Given the description of an element on the screen output the (x, y) to click on. 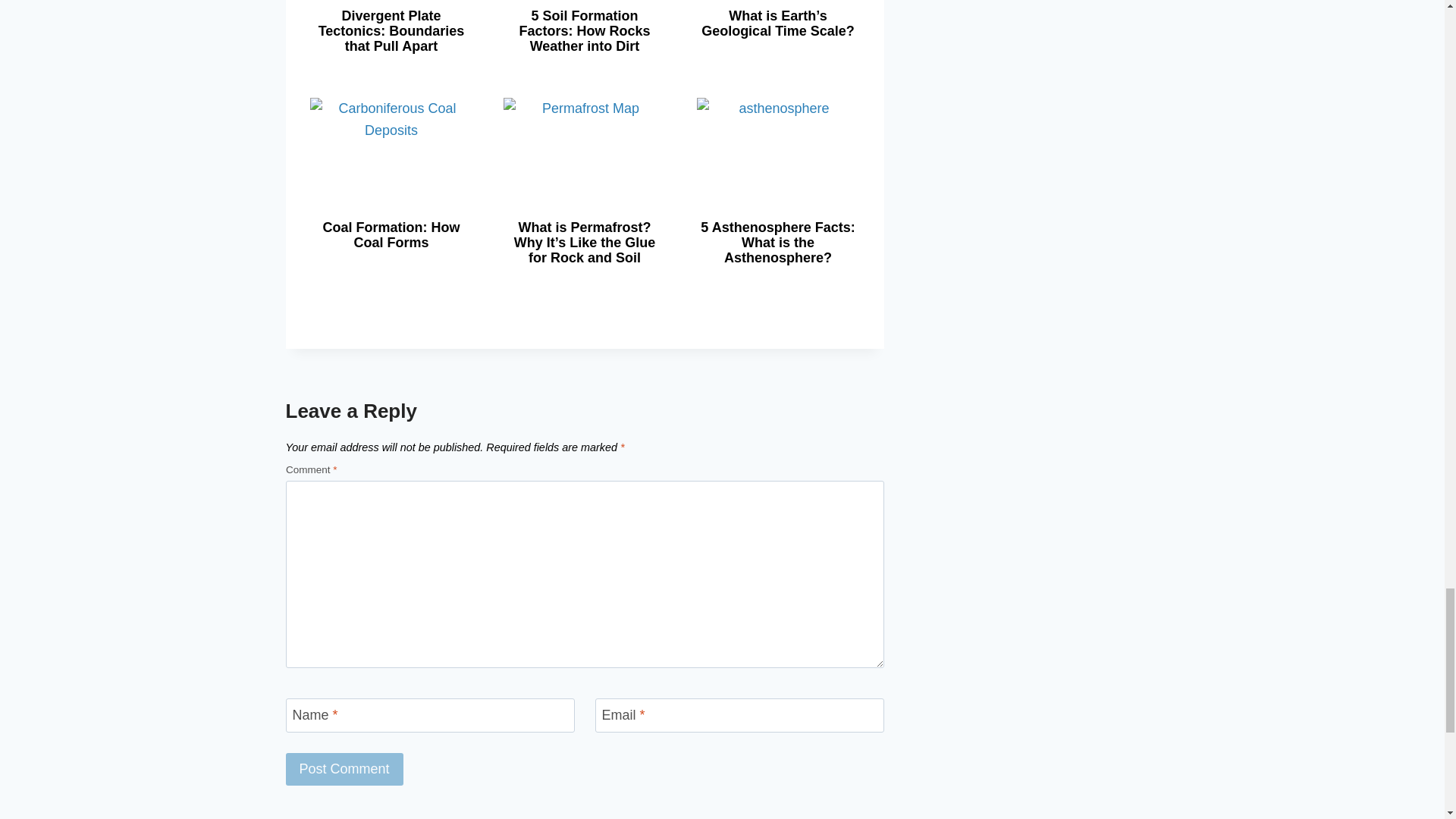
Coal Formation: How Coal Forms (391, 235)
Post Comment (344, 768)
5 Asthenosphere Facts: What is the Asthenosphere? (777, 242)
5 Soil Formation Factors: How Rocks Weather into Dirt (583, 31)
Divergent Plate Tectonics: Boundaries that Pull Apart (391, 31)
